Given the description of an element on the screen output the (x, y) to click on. 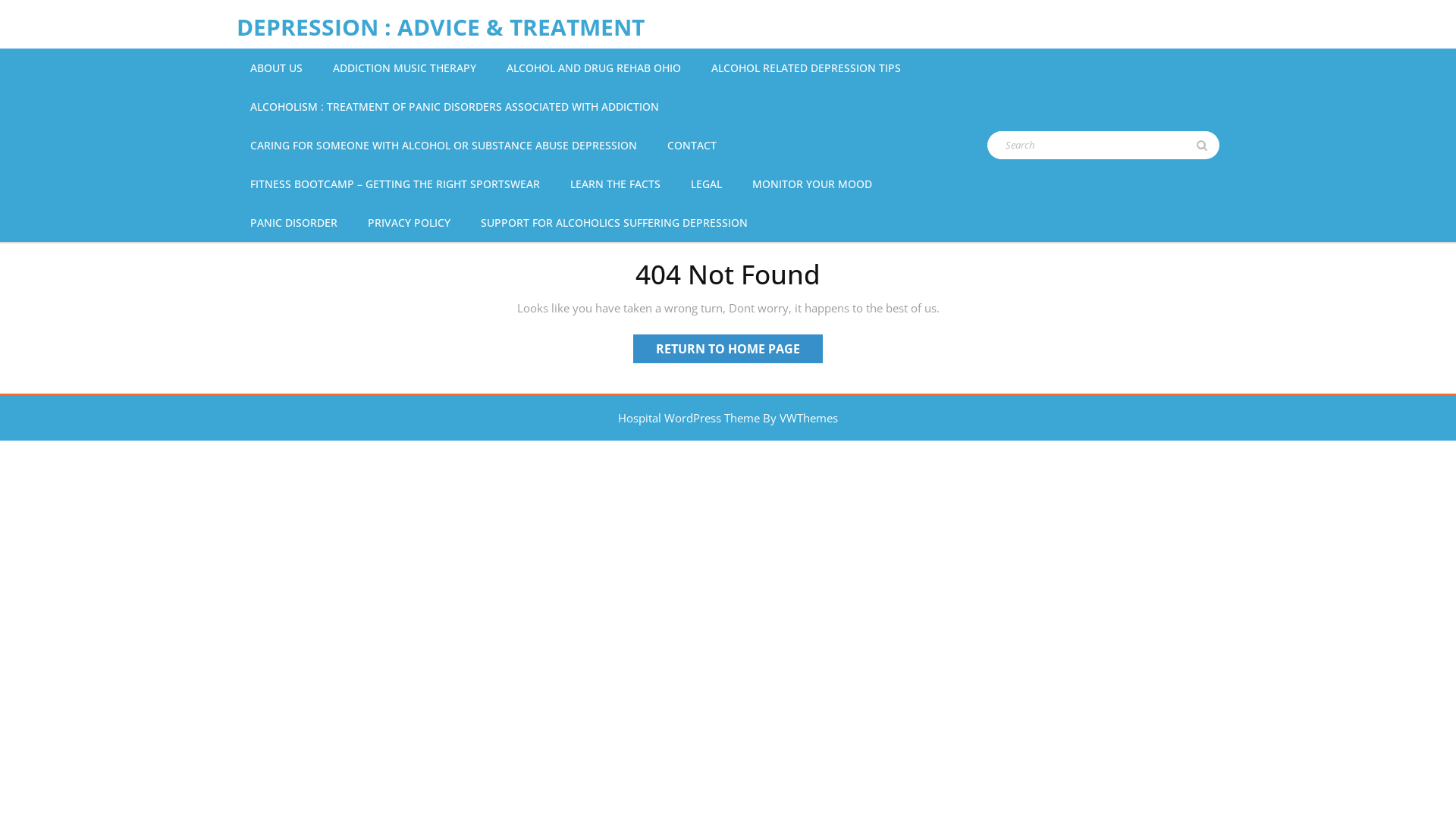
CONTACT Element type: text (691, 144)
ALCOHOL AND DRUG REHAB OHIO Element type: text (593, 67)
PANIC DISORDER Element type: text (293, 222)
SUPPORT FOR ALCOHOLICS SUFFERING DEPRESSION Element type: text (613, 222)
Hospital WordPress Theme Element type: text (688, 417)
ALCOHOL RELATED DEPRESSION TIPS Element type: text (806, 67)
ABOUT US Element type: text (275, 67)
Search Element type: text (1207, 160)
ADDICTION MUSIC THERAPY Element type: text (404, 67)
PRIVACY POLICY Element type: text (408, 222)
DEPRESSION : ADVICE & TREATMENT Element type: text (440, 26)
MONITOR YOUR MOOD Element type: text (811, 183)
LEARN THE FACTS Element type: text (614, 183)
LEGAL Element type: text (706, 183)
RETURN TO HOME PAGE
RETURN TO HOME PAGE Element type: text (727, 348)
